Given the description of an element on the screen output the (x, y) to click on. 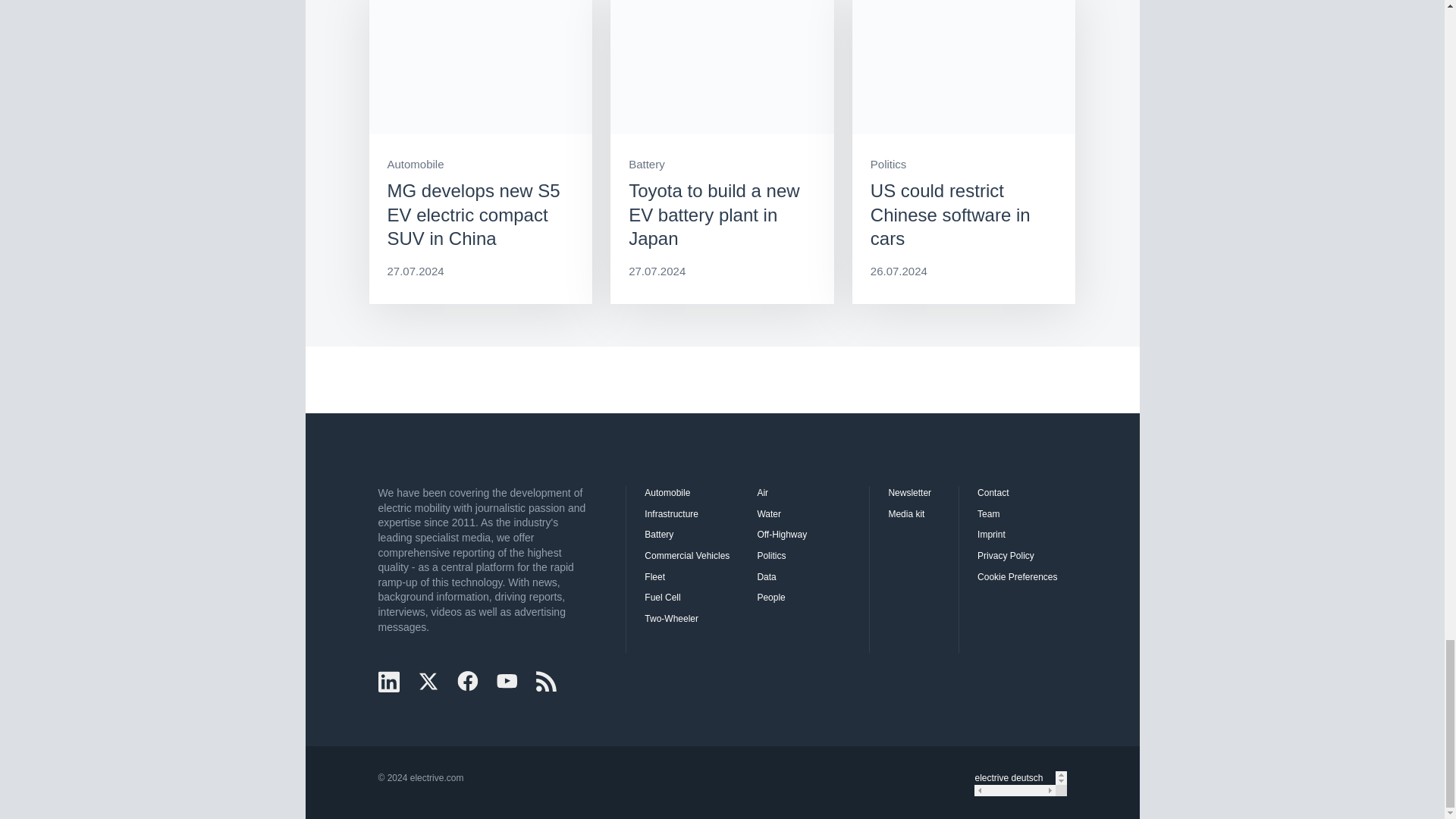
electrive deutsch (1014, 778)
Toyota to build a new EV battery plant in Japan (722, 152)
MG develops new S5 EV electric compact SUV in China (480, 152)
US could restrict Chinese software in cars (963, 152)
